Given the description of an element on the screen output the (x, y) to click on. 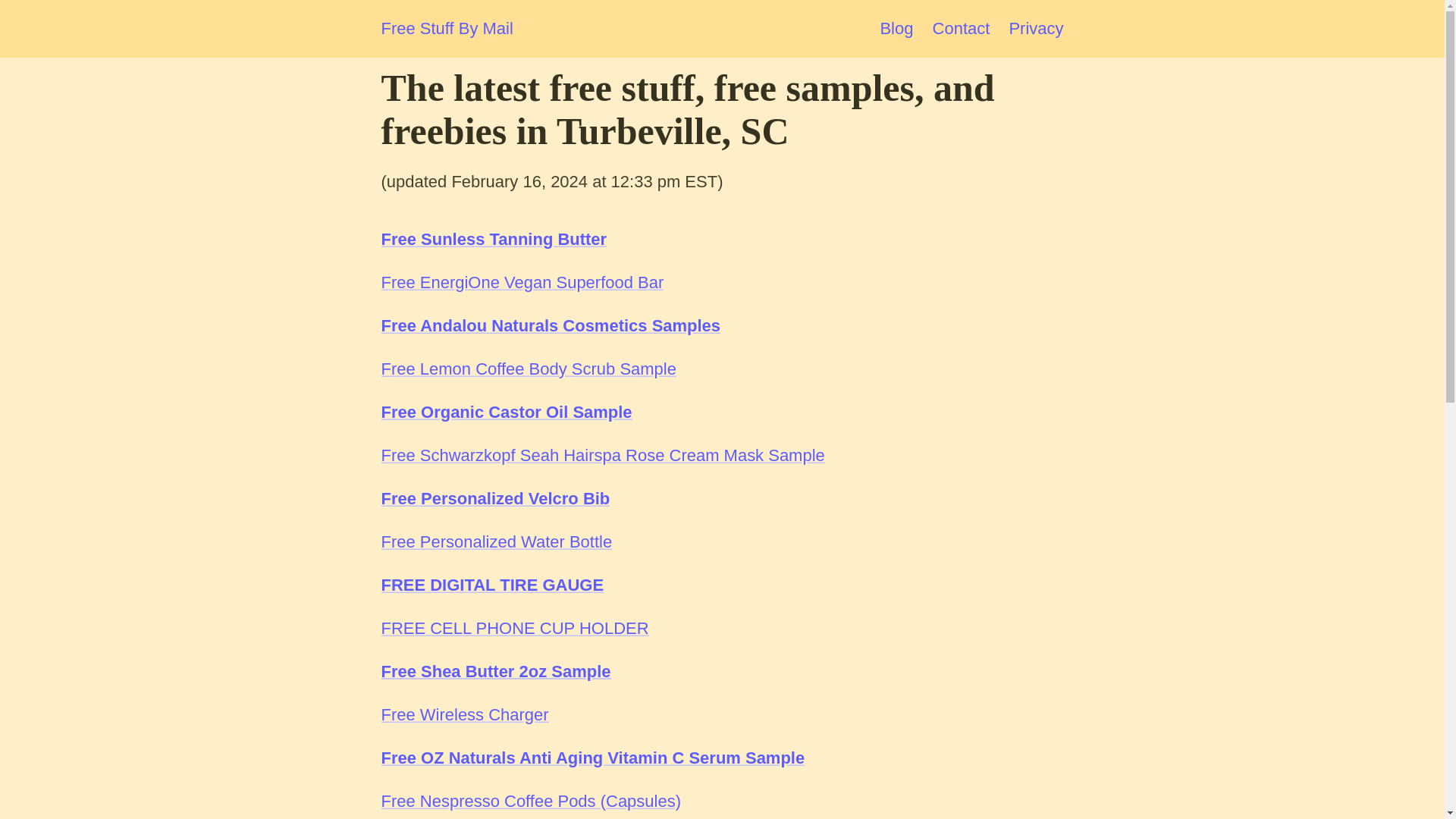
Contact (961, 27)
Free Shea Butter 2oz Sample (495, 670)
Privacy (1035, 27)
Free Schwarzkopf Seah Hairspa Rose Cream Mask Sample (602, 455)
Free Wireless Charger (464, 714)
Blog (895, 27)
Free Sunless Tanning Butter (493, 239)
Free OZ Naturals Anti Aging Vitamin C Serum Sample (592, 757)
Free Organic Castor Oil Sample (505, 411)
Free Personalized Velcro Bib (495, 497)
FREE CELL PHONE CUP HOLDER (513, 628)
Free Lemon Coffee Body Scrub Sample (527, 368)
Free Andalou Naturals Cosmetics Samples (550, 325)
FREE DIGITAL TIRE GAUGE (492, 584)
Free Personalized Water Bottle (495, 541)
